Given the description of an element on the screen output the (x, y) to click on. 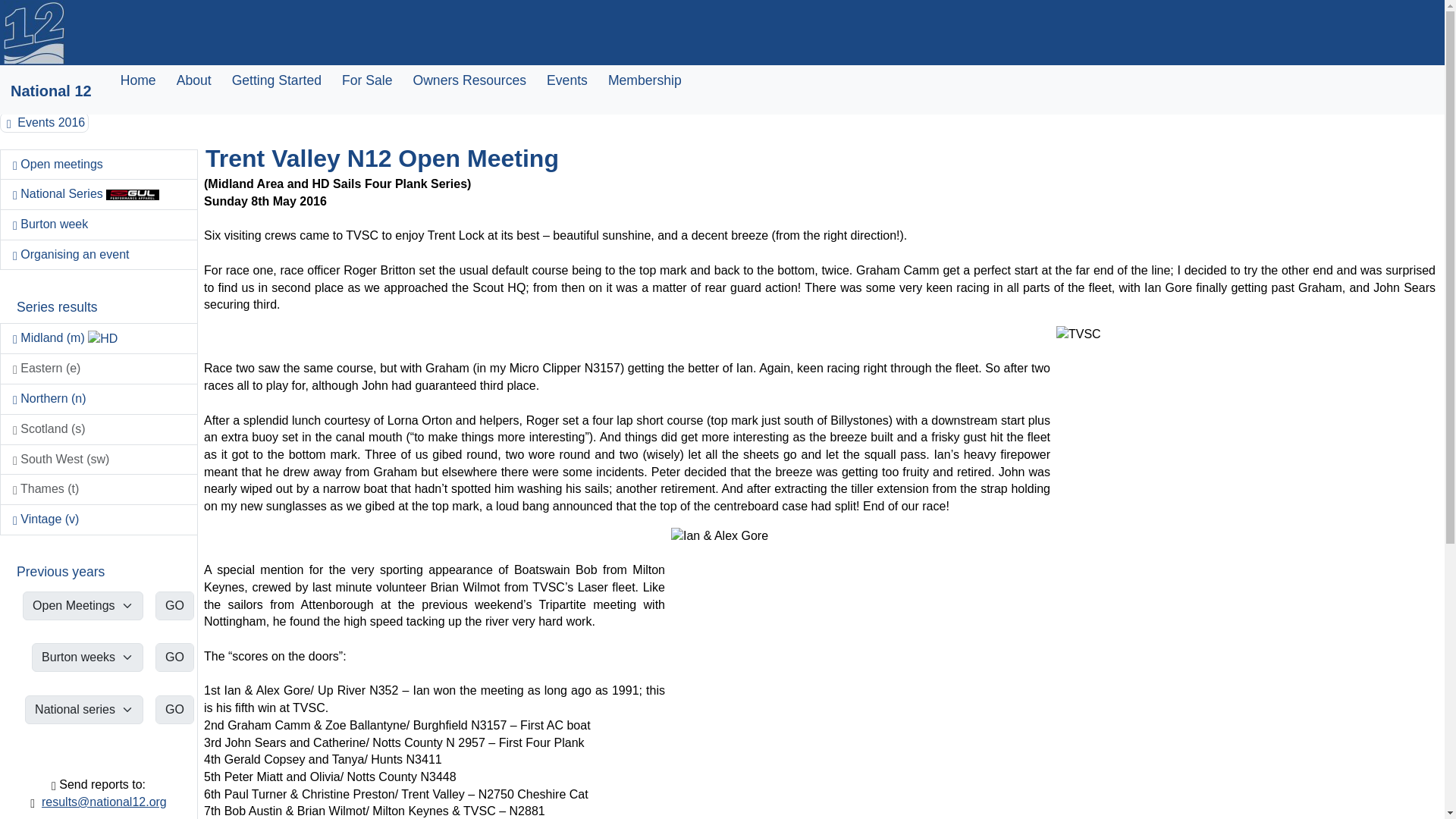
Membership (644, 80)
Home (137, 80)
For Sale (367, 80)
National 12 (50, 90)
Gul (132, 194)
GO (174, 709)
Getting Started (276, 80)
N12 Home (34, 32)
GO (174, 656)
Owners Resources (468, 80)
